Given the description of an element on the screen output the (x, y) to click on. 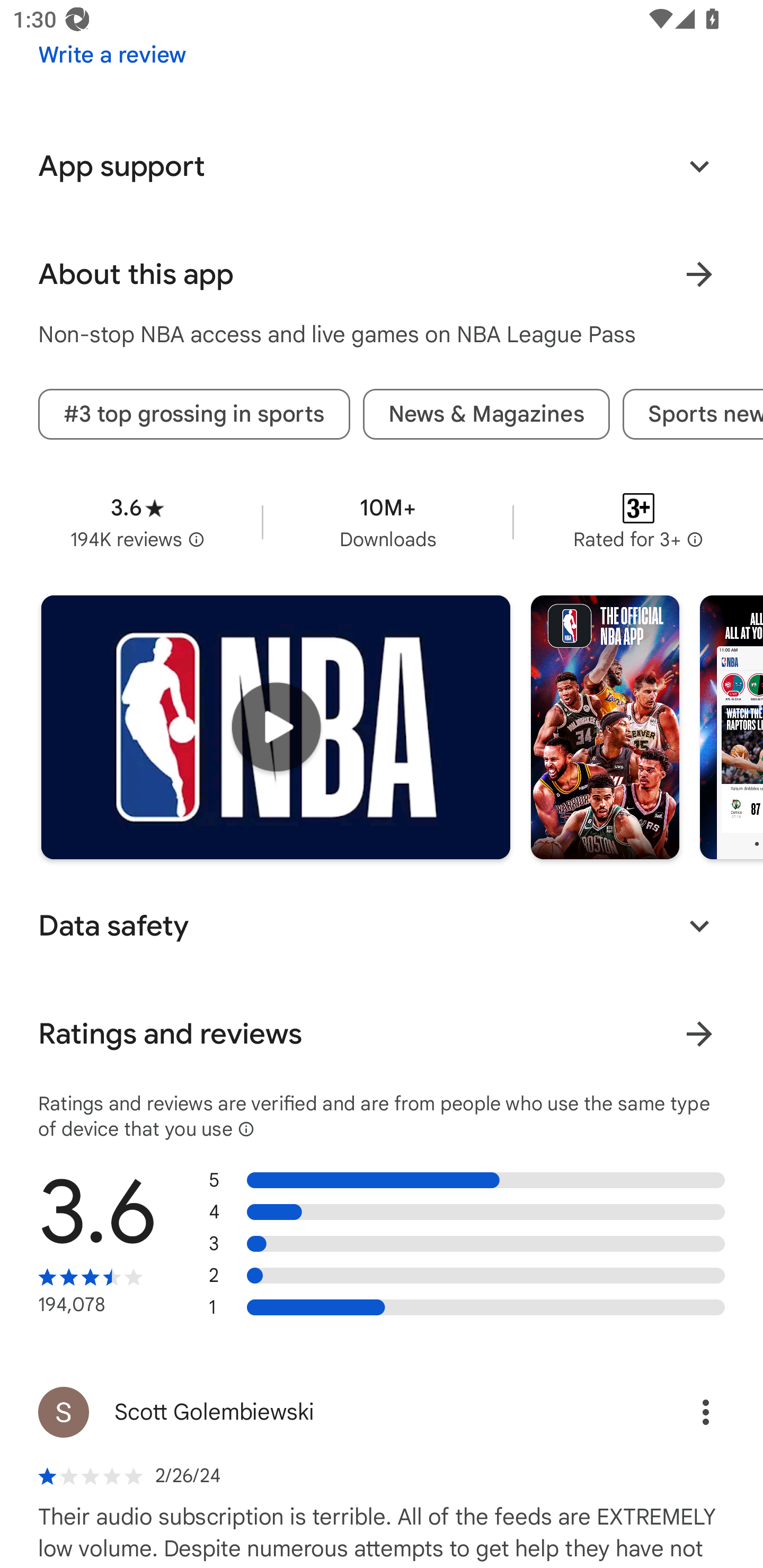
Write a review (112, 54)
App support Expand (381, 166)
Expand (699, 165)
About this app Learn more About this app (381, 274)
Learn more About this app (699, 274)
#3 top grossing in sports tag (194, 414)
News & Magazines tag (486, 414)
Average rating 3.6 stars in 194 thousand reviews (137, 522)
Content rating Rated for 3+ (638, 522)
Play trailer for "NBA: Live Games & Scores" (275, 727)
Screenshot "1" of "7" (605, 727)
Data safety Expand (381, 925)
Expand (699, 925)
Ratings and reviews View all ratings and reviews (381, 1033)
View all ratings and reviews (699, 1033)
Options (686, 1411)
